Given the description of an element on the screen output the (x, y) to click on. 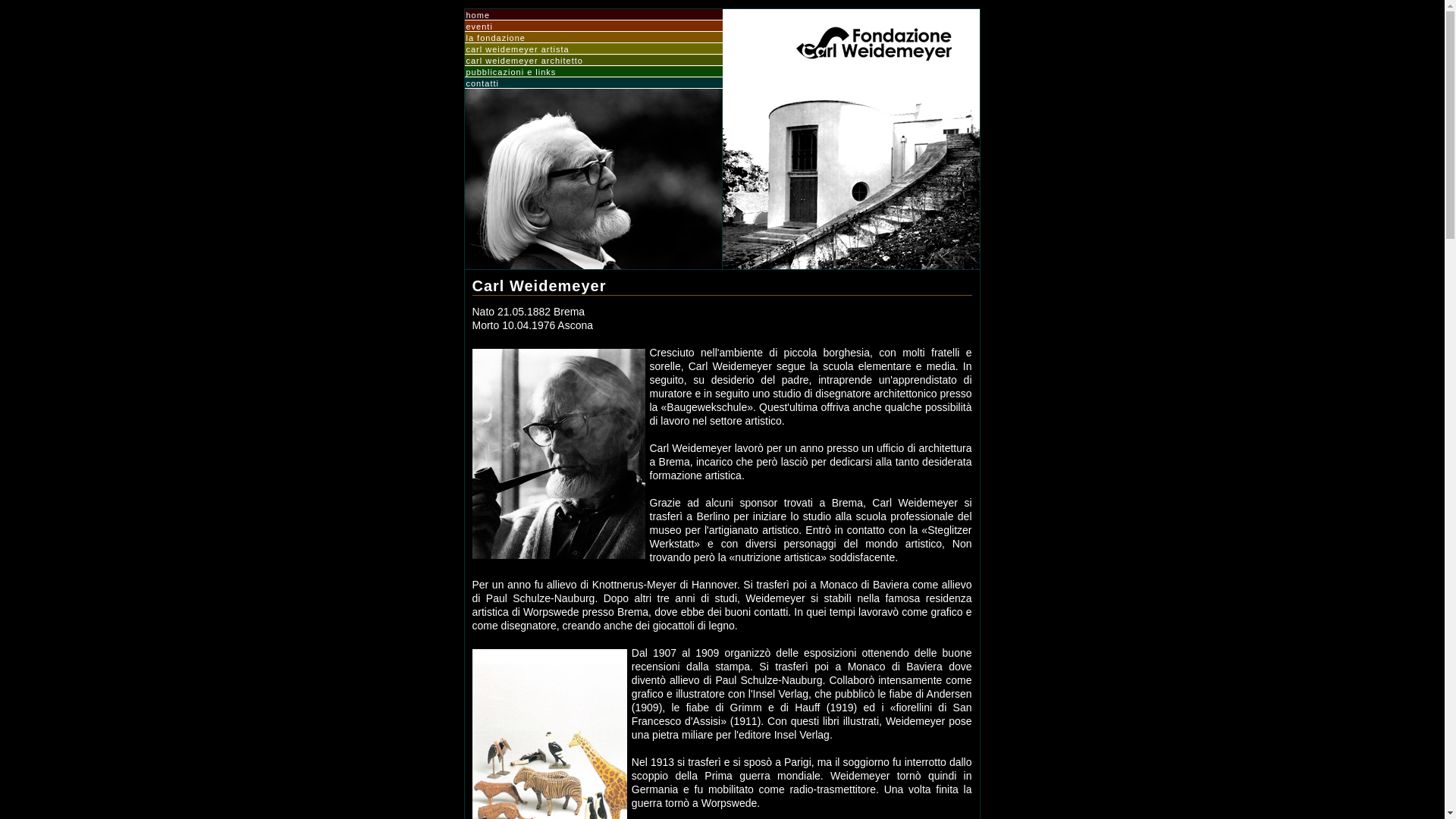
eventi Element type: text (593, 26)
carl weidemeyer architetto Element type: text (593, 60)
home Element type: text (593, 14)
contatti Element type: text (593, 82)
pubblicazioni e links Element type: text (593, 71)
la fondazione Element type: text (593, 37)
